Given the description of an element on the screen output the (x, y) to click on. 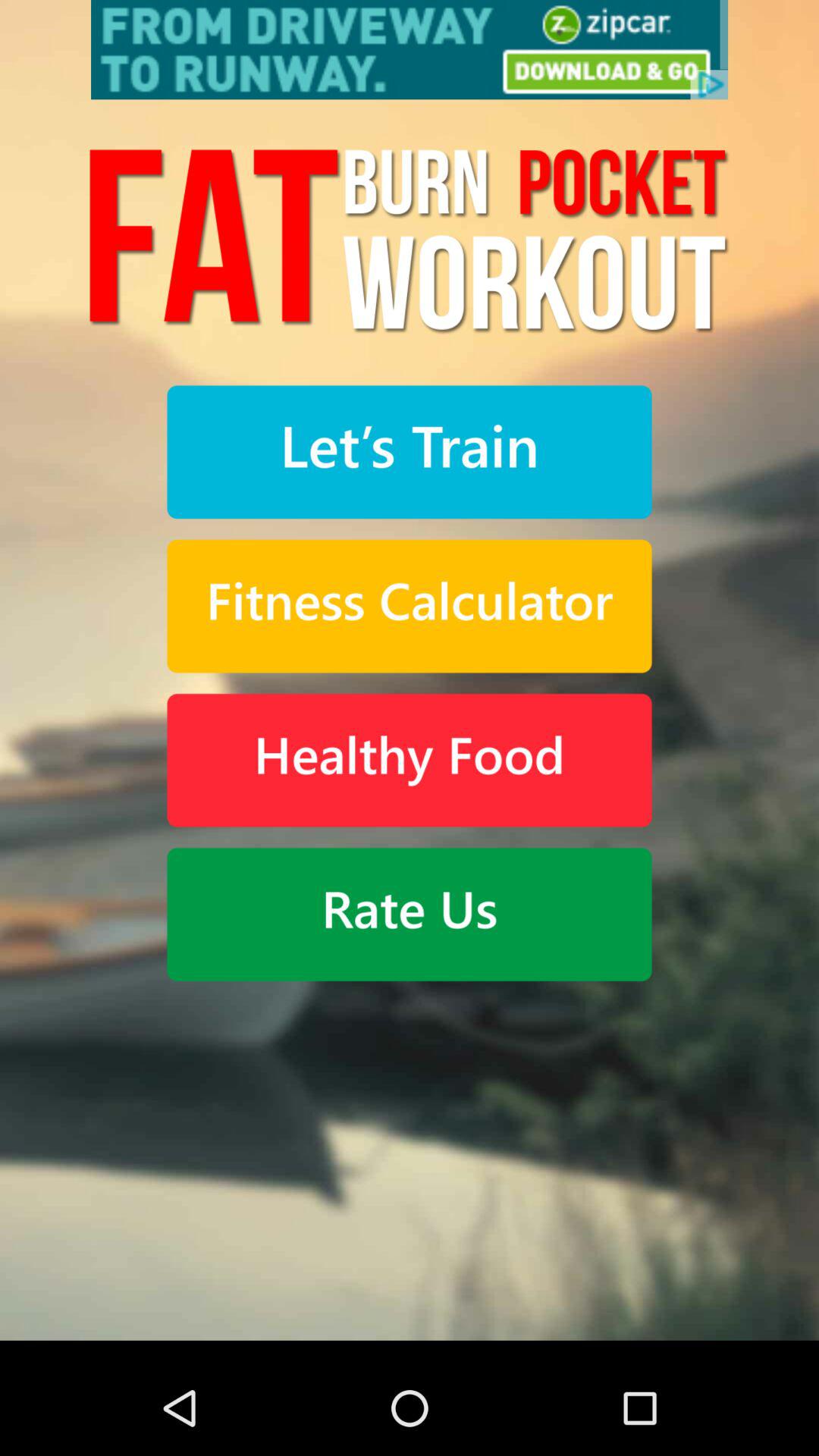
open advertisement (409, 49)
